Given the description of an element on the screen output the (x, y) to click on. 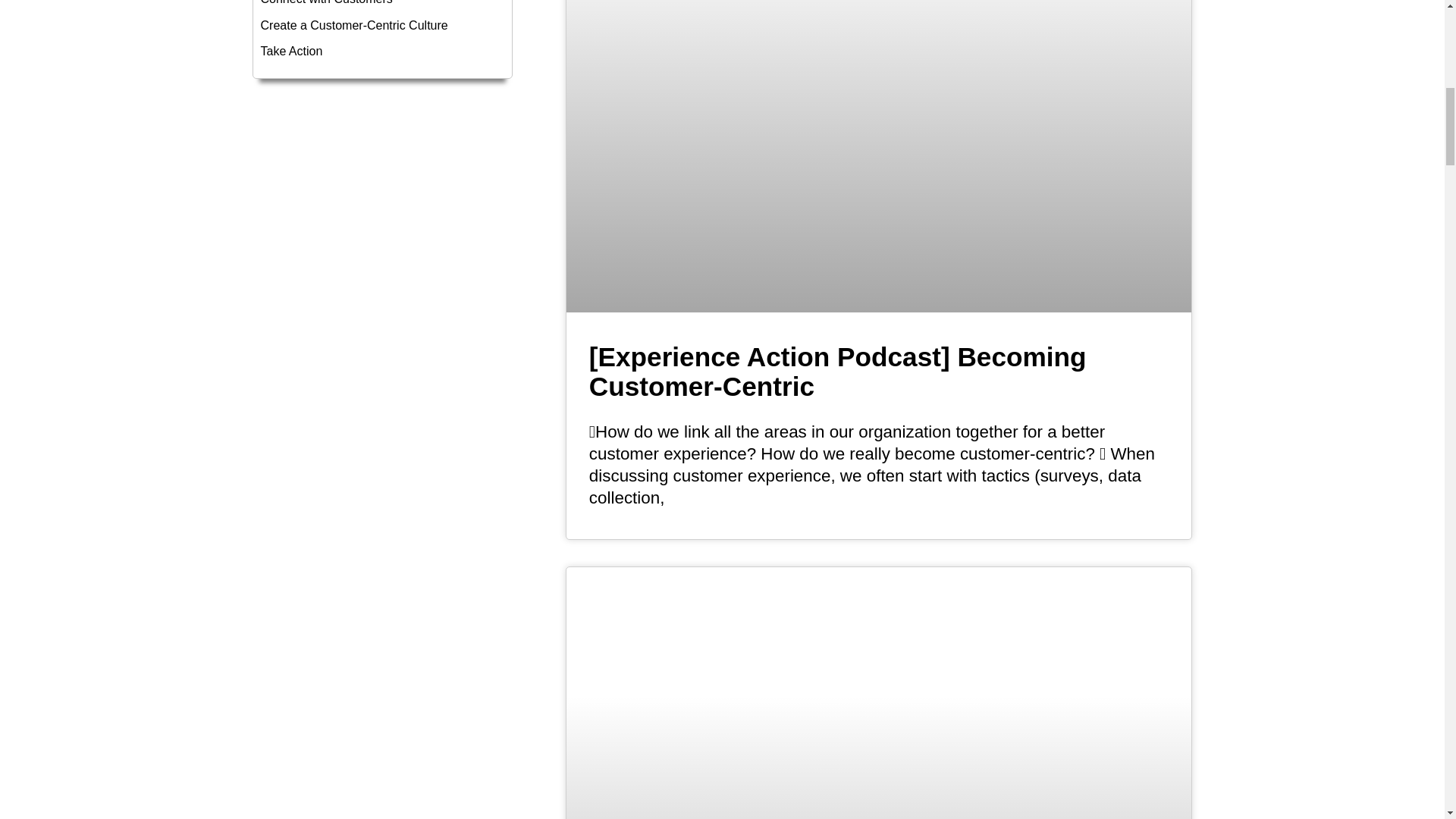
Create a Customer-Centric Culture (381, 25)
Take Action (381, 51)
Connect with Customers (381, 5)
